Given the description of an element on the screen output the (x, y) to click on. 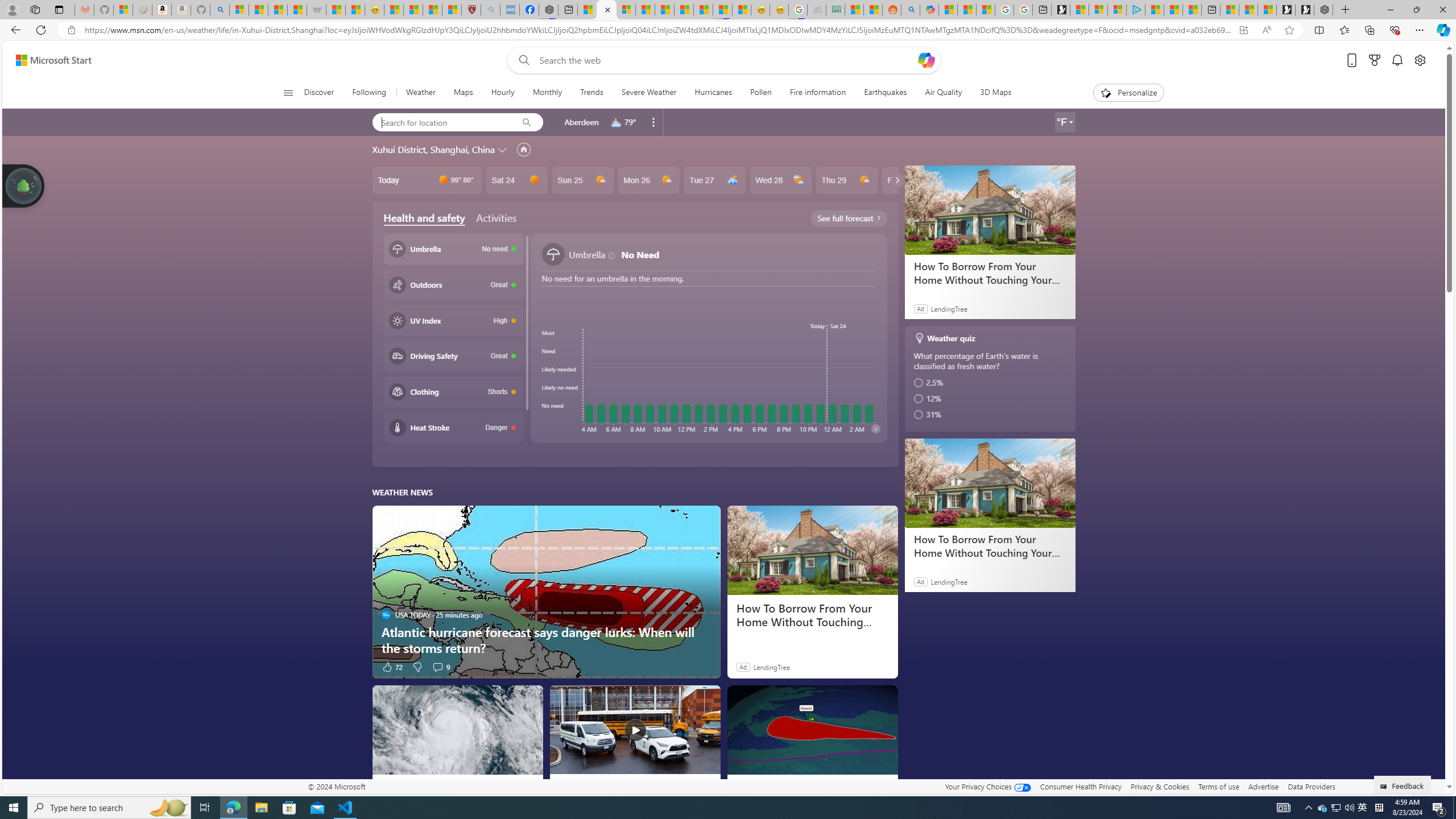
Maps (462, 92)
Fire information (818, 92)
Earthquakes (884, 92)
3D Maps (995, 92)
Thu 29 (846, 180)
UV index High (453, 319)
Xuhui District, Shanghai, China (433, 149)
